Given the description of an element on the screen output the (x, y) to click on. 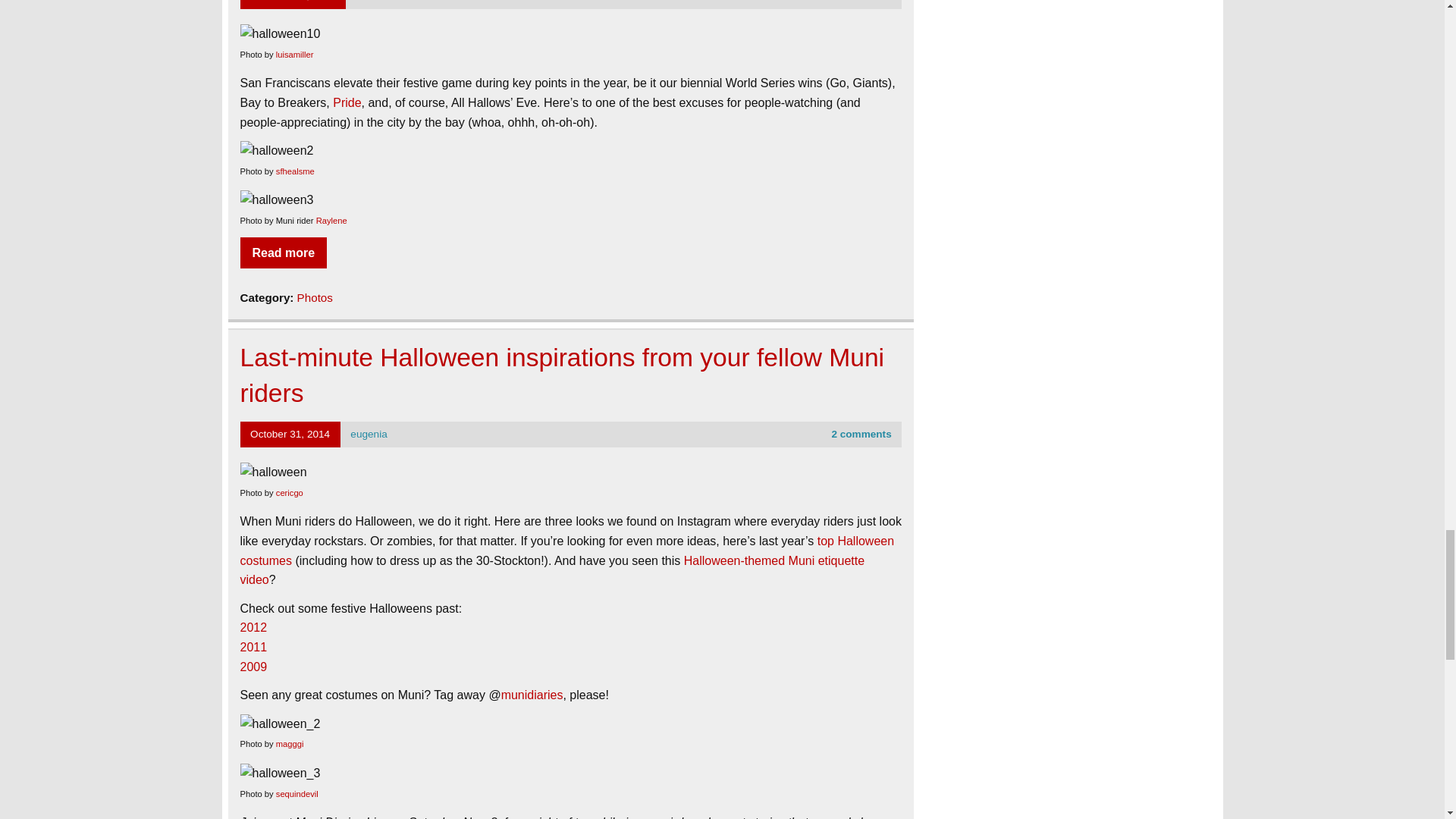
2:55 pm (292, 0)
3:05 pm (290, 433)
View all posts by Tara (365, 0)
View all posts by eugenia (368, 433)
